Given the description of an element on the screen output the (x, y) to click on. 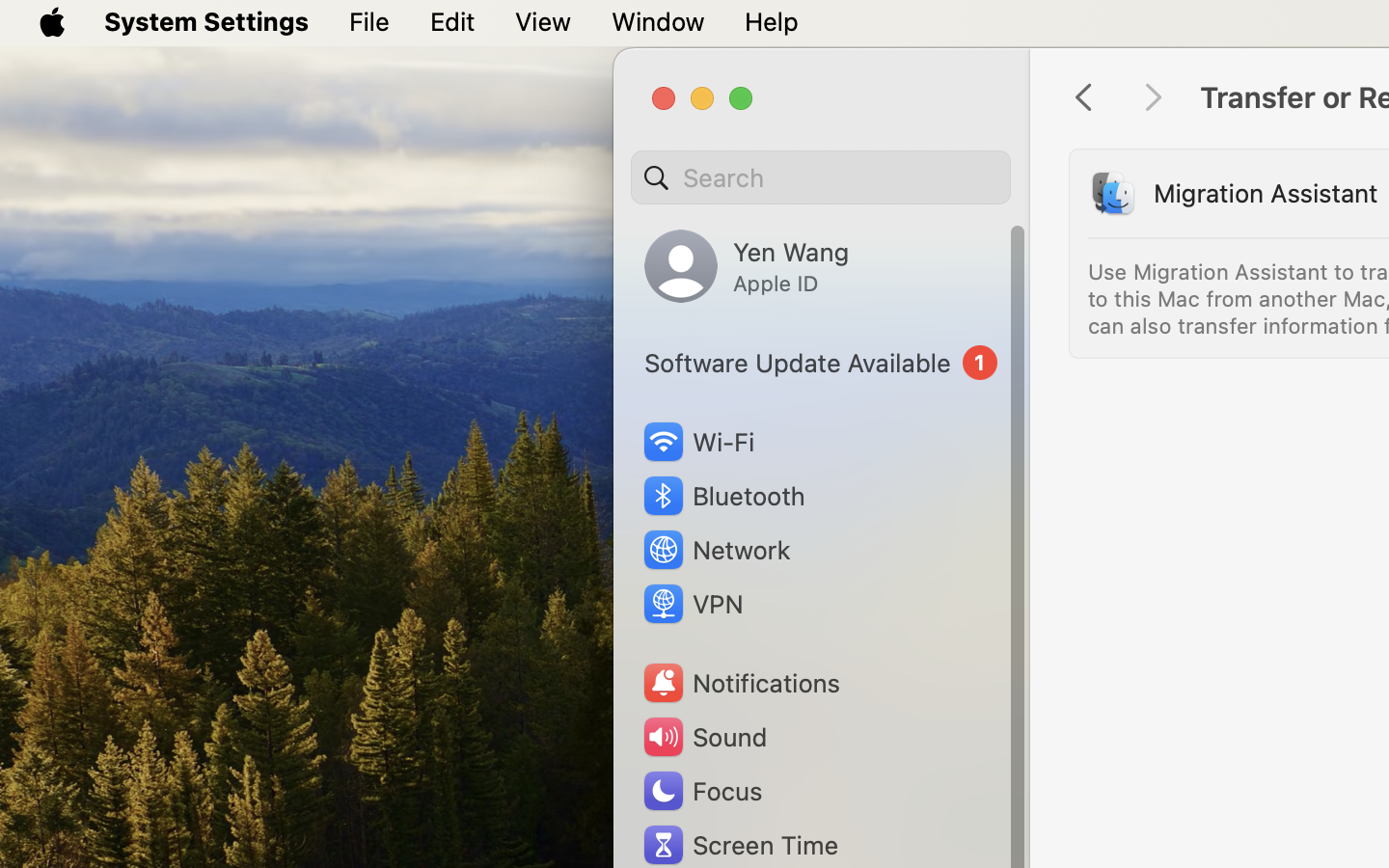
Bluetooth Element type: AXStaticText (723, 495)
Wi‑Fi Element type: AXStaticText (697, 441)
Focus Element type: AXStaticText (701, 790)
Screen Time Element type: AXStaticText (739, 844)
Notifications Element type: AXStaticText (740, 682)
